Given the description of an element on the screen output the (x, y) to click on. 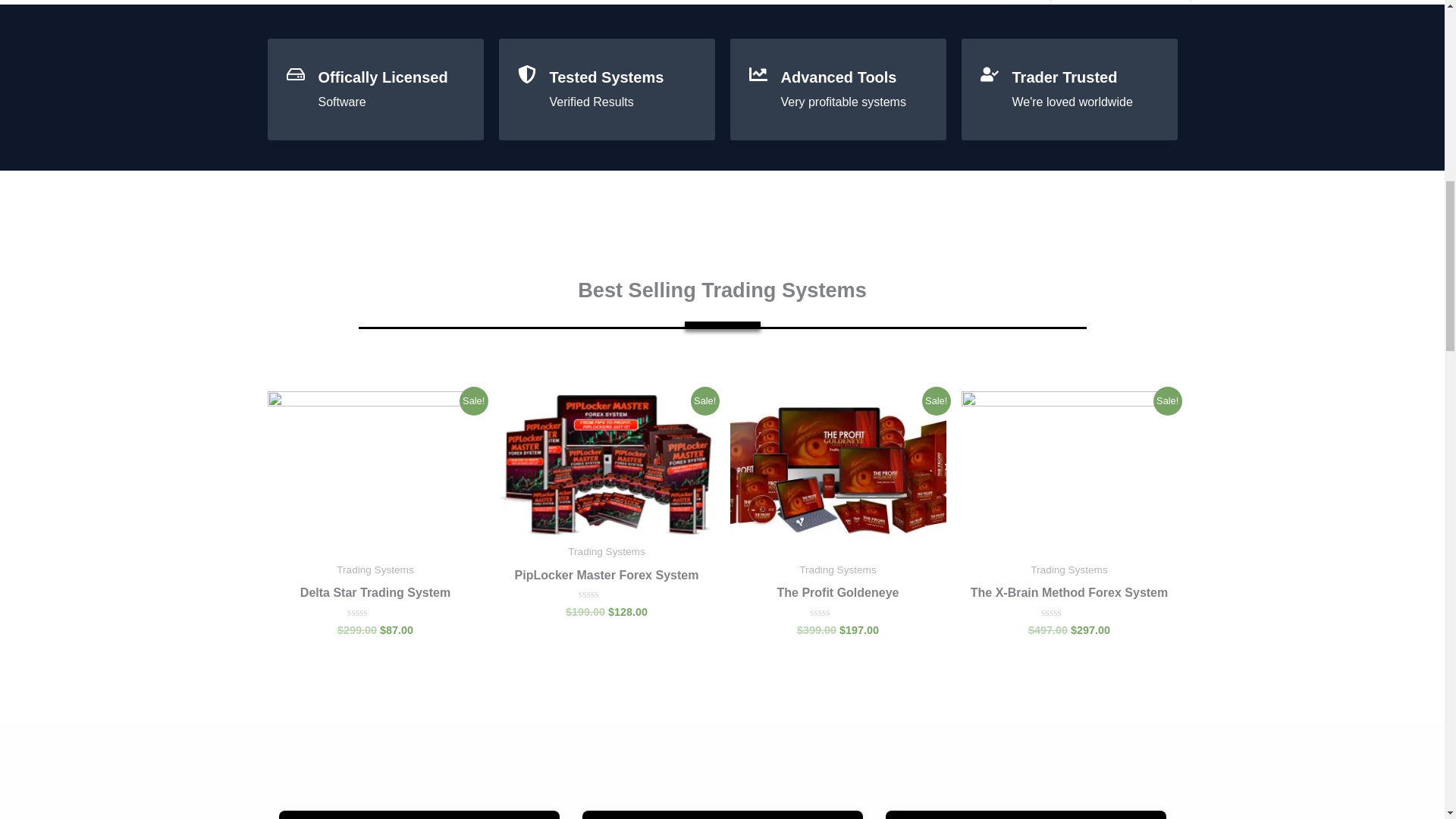
Trader Trusted (1063, 76)
The Profit Goldeneye (836, 596)
Offically Licensed (383, 76)
PipLocker Master Forex System (606, 578)
Tested Systems (605, 76)
Delta Star Trading System (374, 596)
Advanced Tools (838, 76)
The X-Brain Method Forex System (1068, 596)
